Given the description of an element on the screen output the (x, y) to click on. 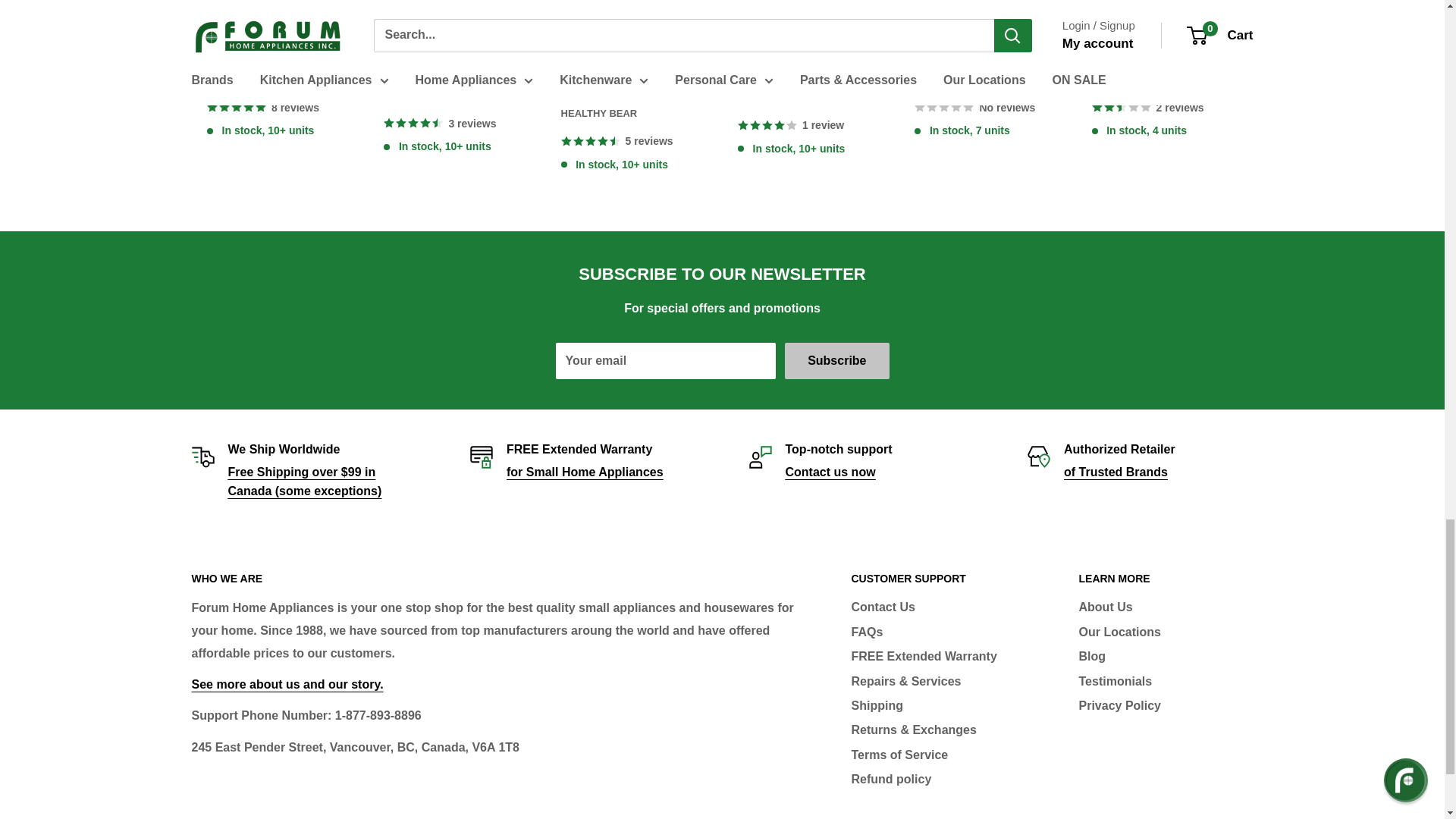
Top Brands (1115, 472)
FREE Extended Warranty (584, 472)
Contact Us (831, 472)
Shipping Info (304, 481)
About Us (286, 684)
